Given the description of an element on the screen output the (x, y) to click on. 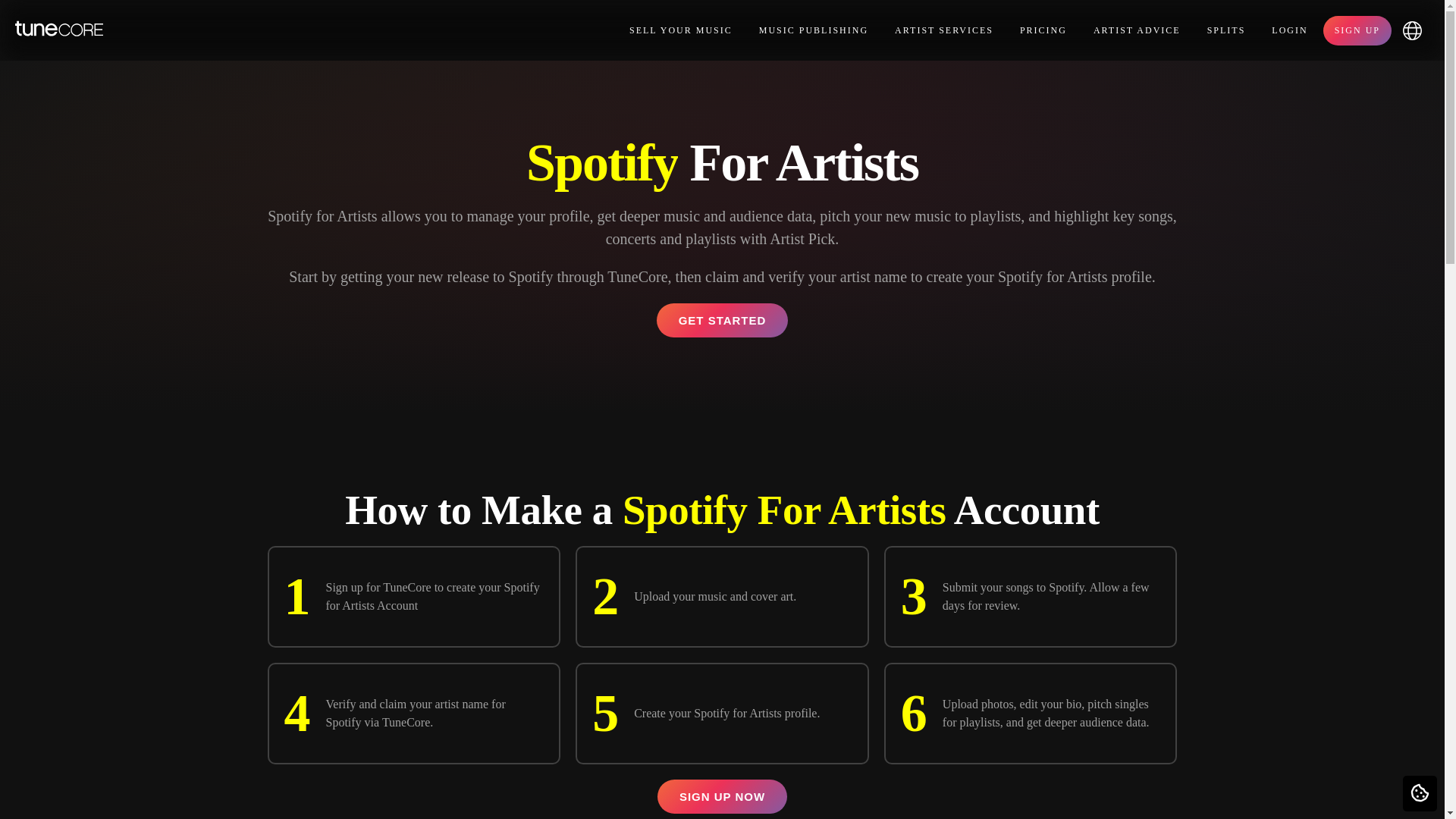
GET STARTED (722, 320)
ARTIST SERVICES (943, 30)
SIGN UP (1357, 30)
LOGIN (1289, 30)
PRICING (1043, 30)
ARTIST ADVICE (1136, 30)
MUSIC PUBLISHING (813, 30)
SELL YOUR MUSIC (680, 30)
SPLITS (1226, 30)
SIGN UP NOW (722, 796)
